Given the description of an element on the screen output the (x, y) to click on. 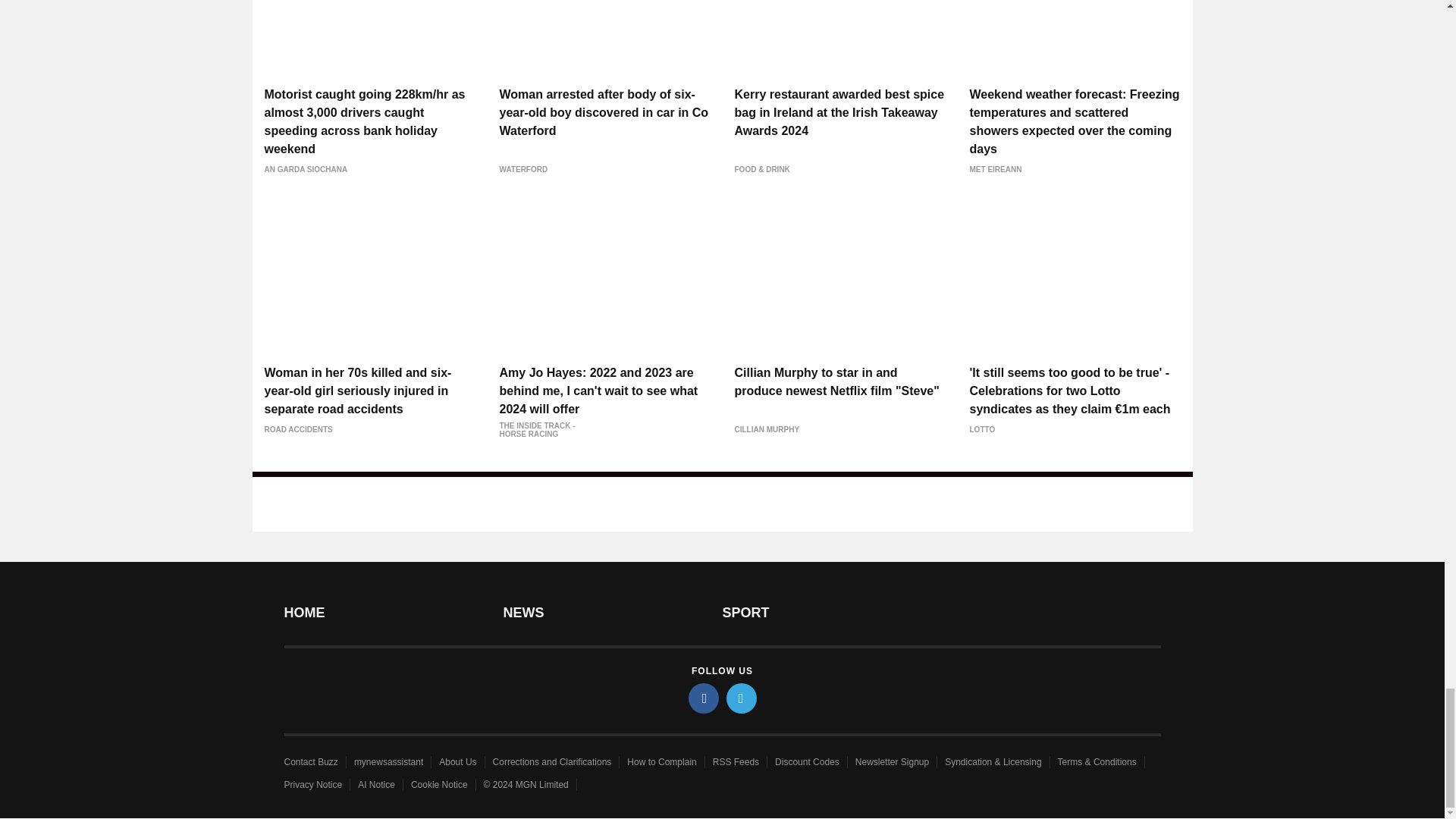
twitter (741, 698)
facebook (703, 698)
